Given the description of an element on the screen output the (x, y) to click on. 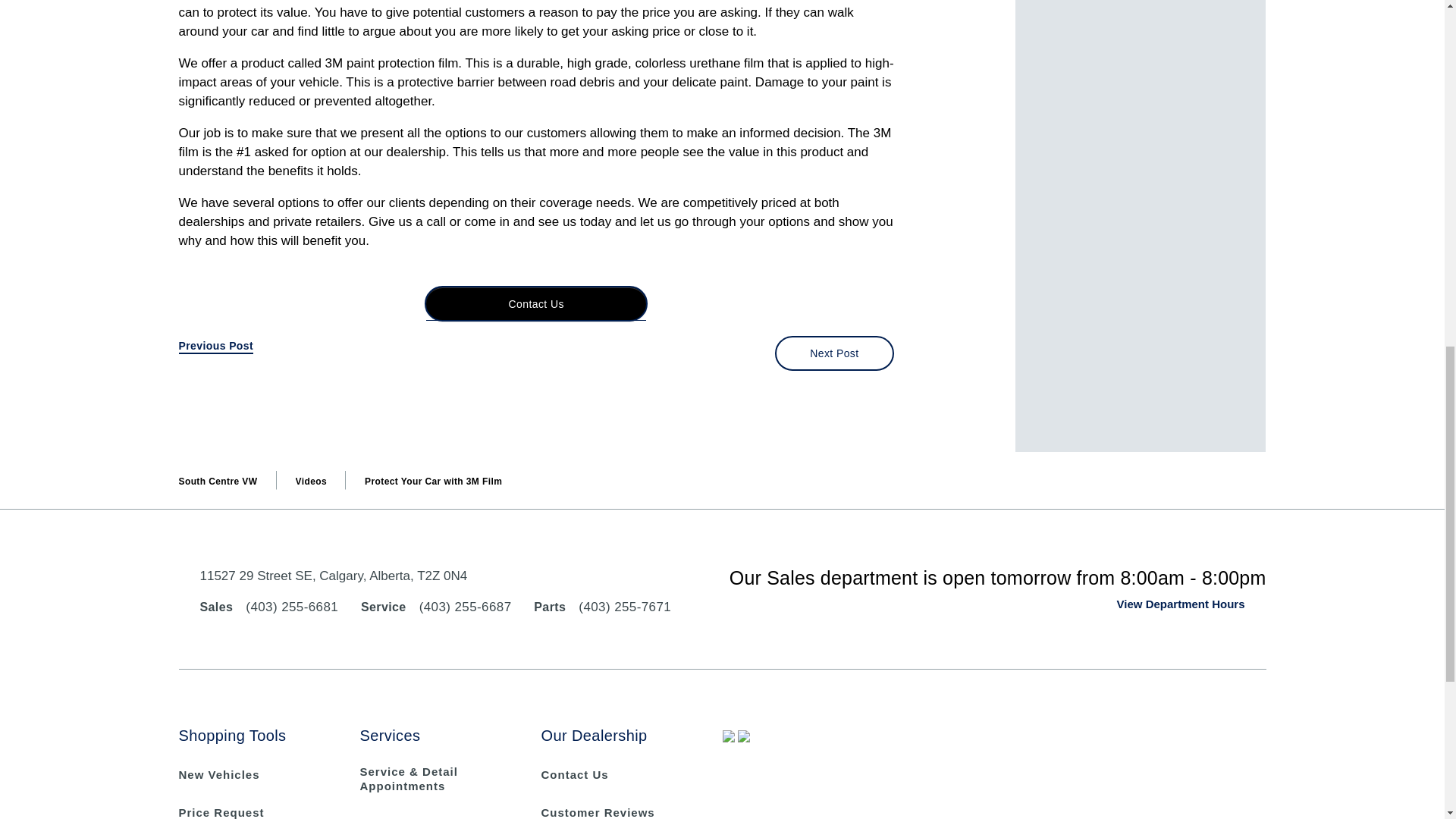
Twitter (1253, 780)
Instagram (1253, 815)
Go to the Videos category archives. (311, 480)
Facebook (1253, 738)
Go to South Centre VW. (218, 480)
